Given the description of an element on the screen output the (x, y) to click on. 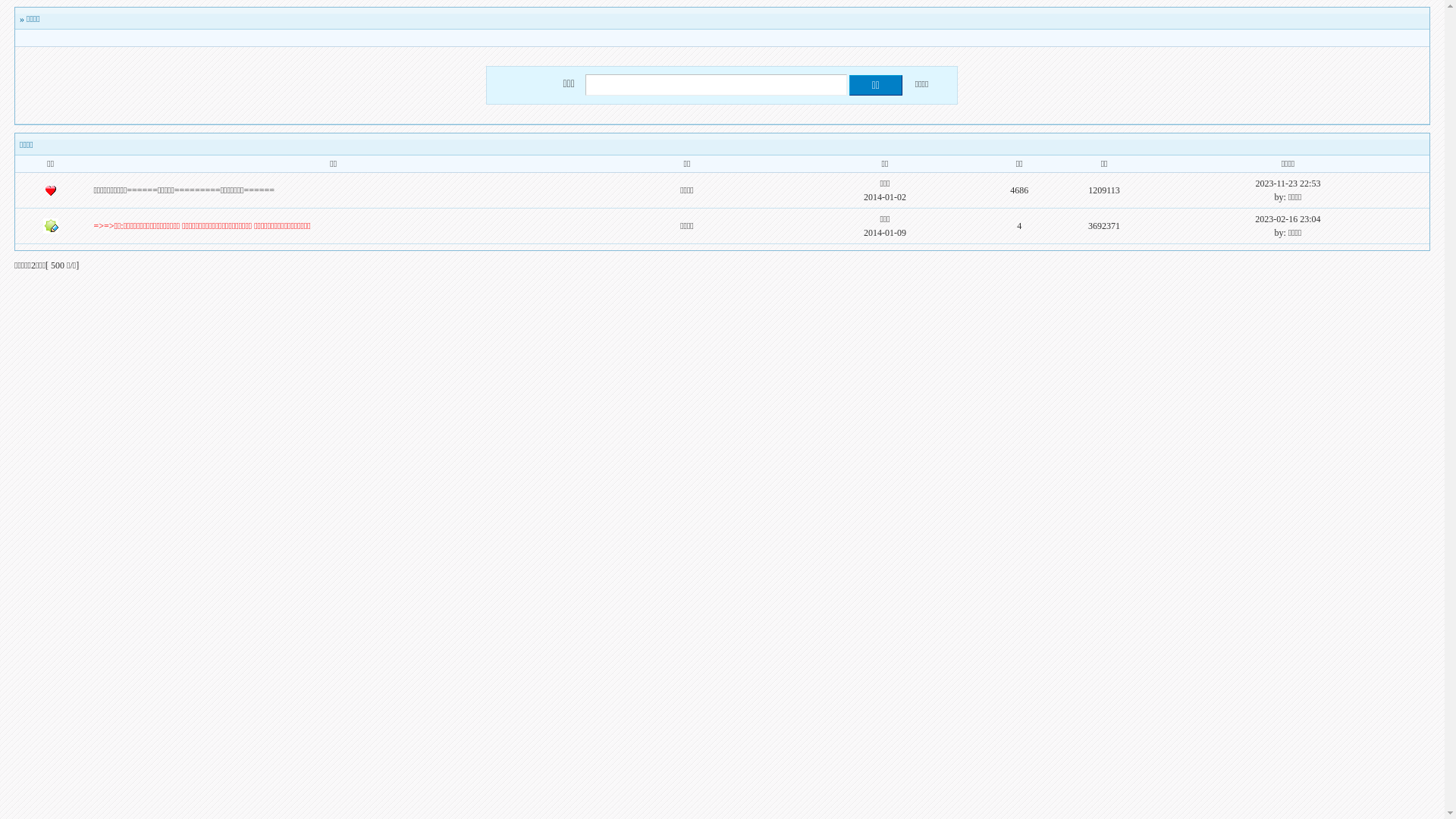
2023-11-23 22:53 Element type: text (1288, 183)
2023-02-16 23:04 Element type: text (1287, 218)
